Given the description of an element on the screen output the (x, y) to click on. 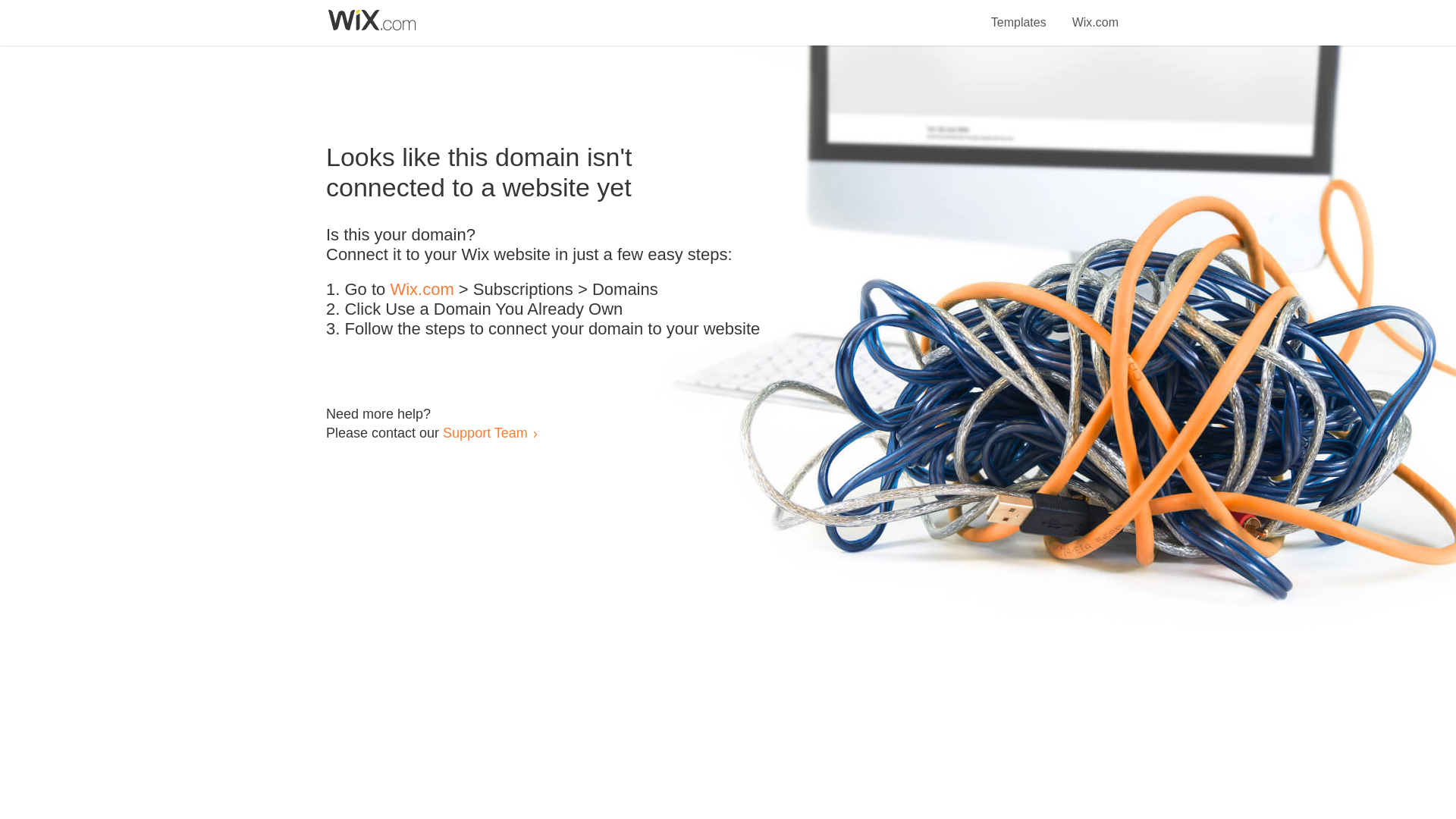
Support Team (484, 432)
Wix.com (1095, 14)
Templates (1018, 14)
Wix.com (421, 289)
